Given the description of an element on the screen output the (x, y) to click on. 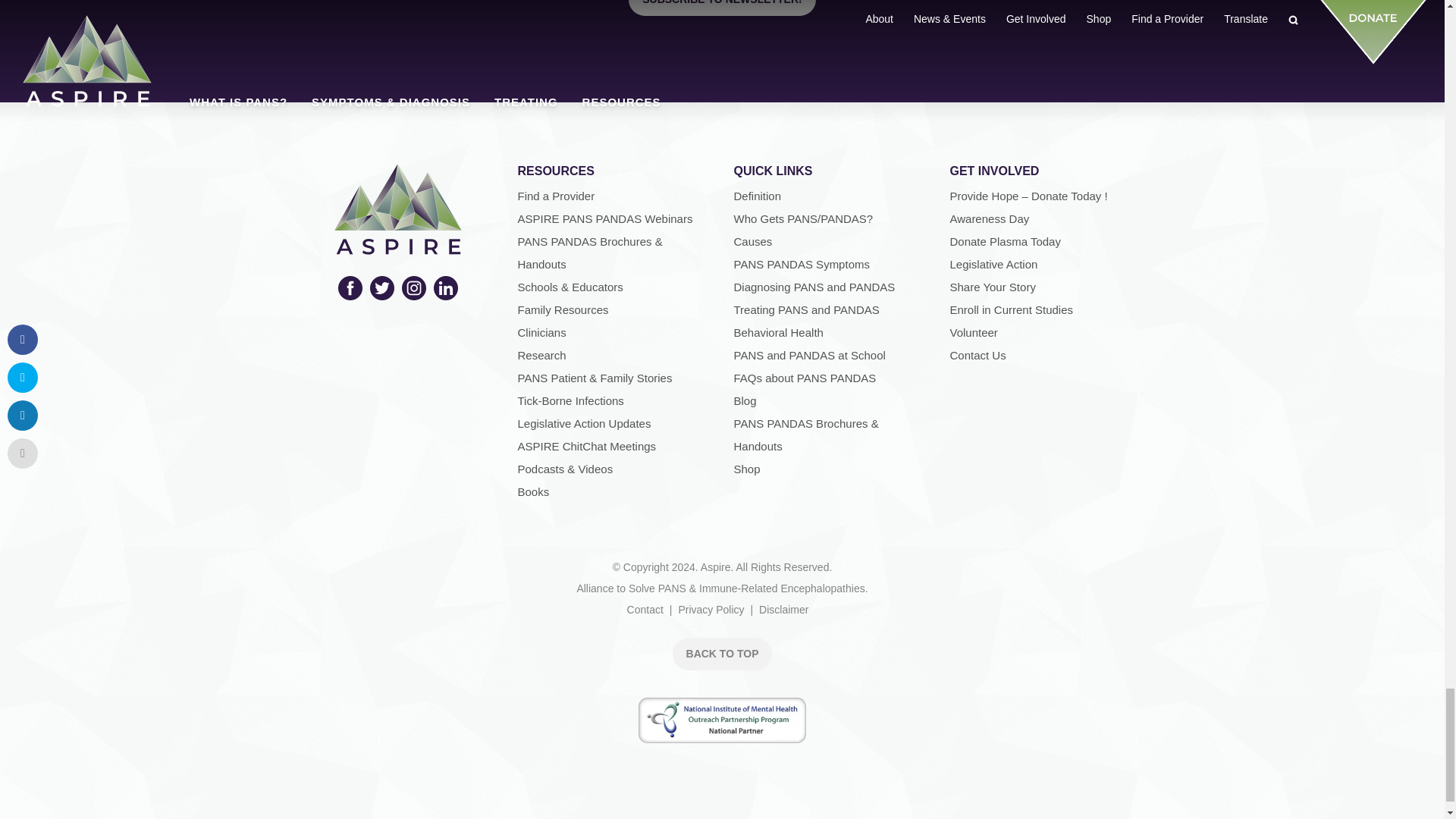
Aspire (398, 244)
